Given the description of an element on the screen output the (x, y) to click on. 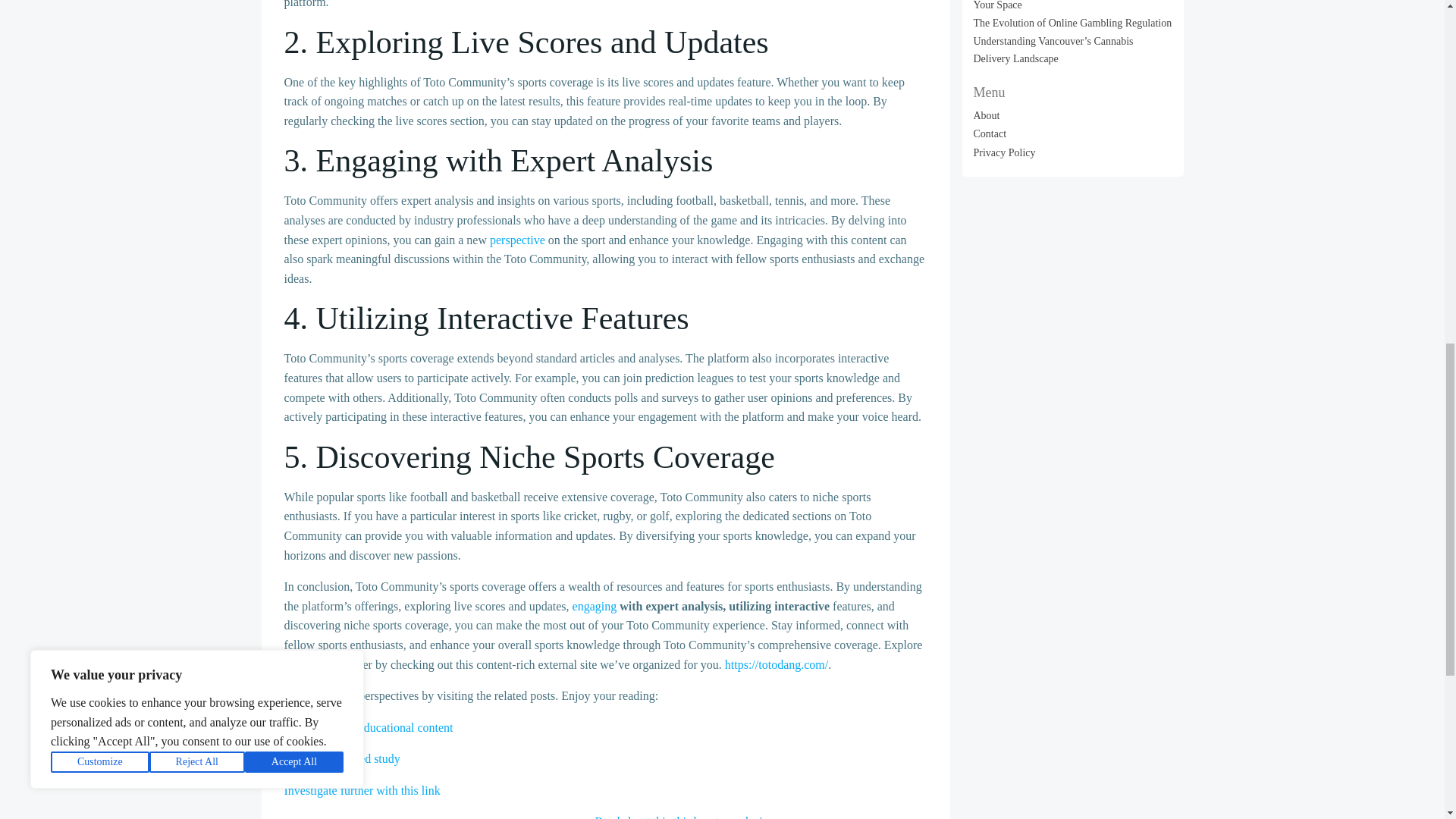
engaging (594, 605)
perspective (516, 239)
Read this detailed study (340, 758)
Read about this third-party analysis (680, 816)
Delve into this educational content (367, 727)
Investigate further with this link (361, 789)
